Given the description of an element on the screen output the (x, y) to click on. 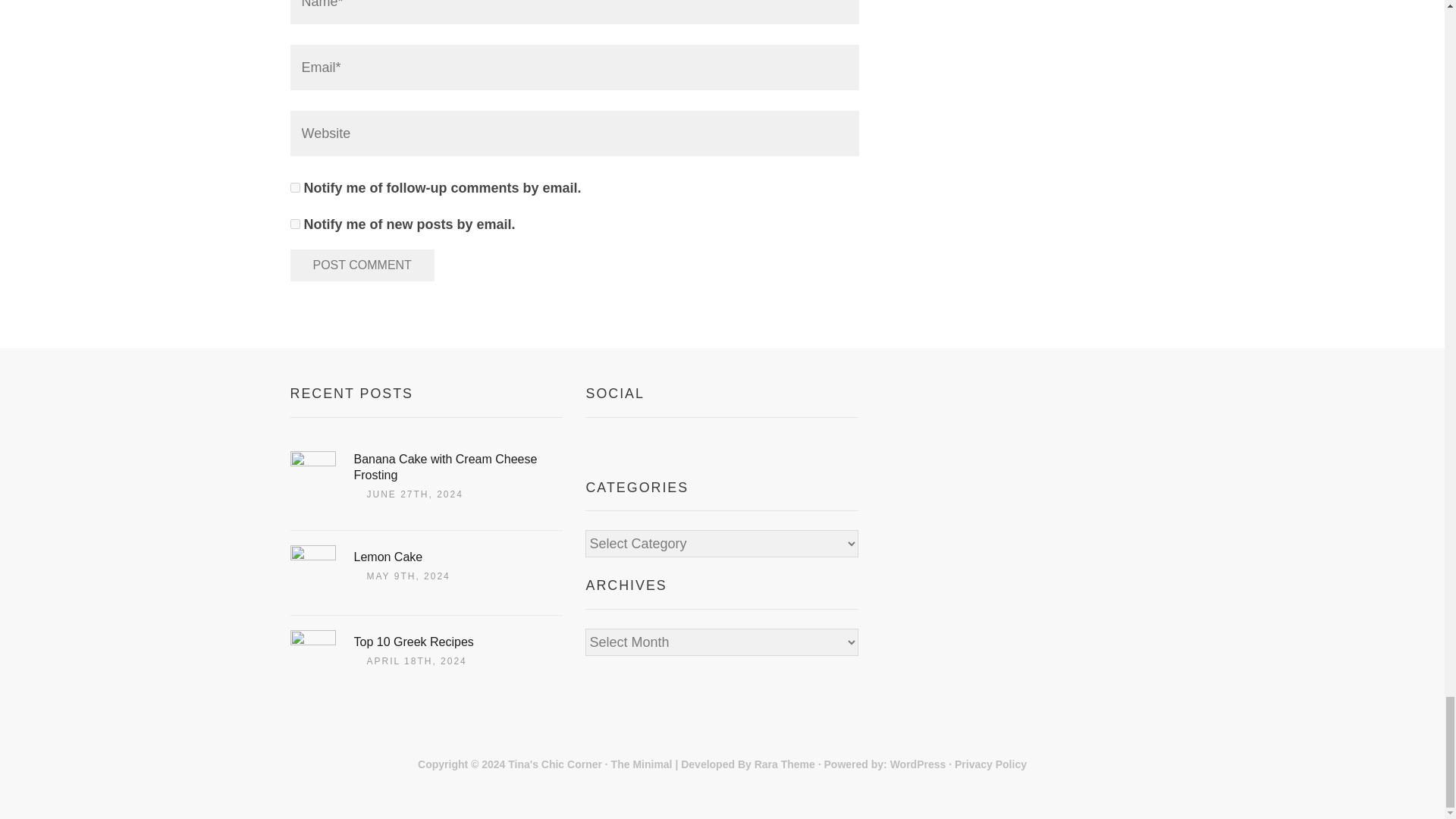
subscribe (294, 187)
Post Comment (361, 265)
subscribe (294, 224)
